Given the description of an element on the screen output the (x, y) to click on. 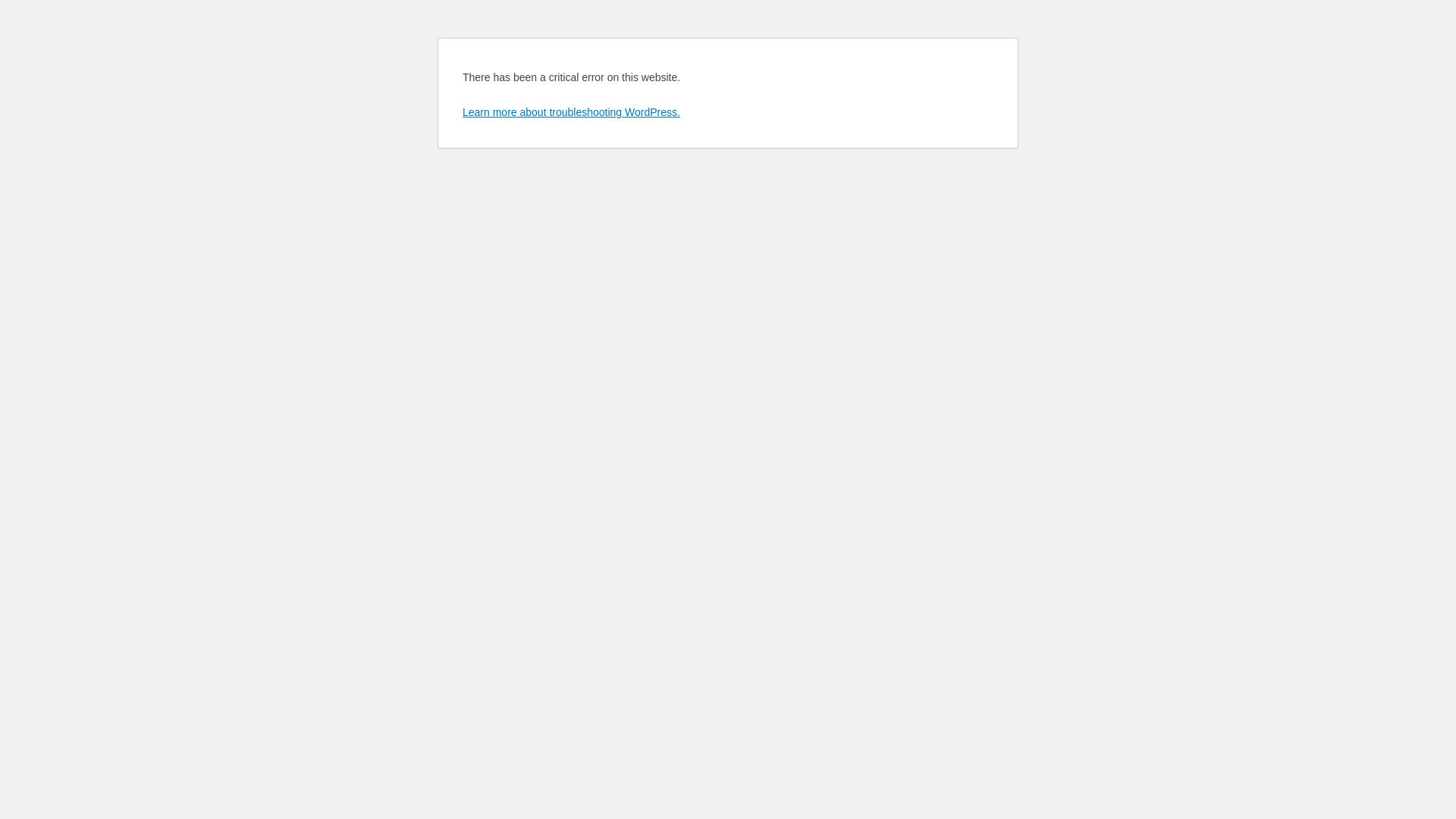
Learn more about troubleshooting WordPress. Element type: text (571, 112)
